Given the description of an element on the screen output the (x, y) to click on. 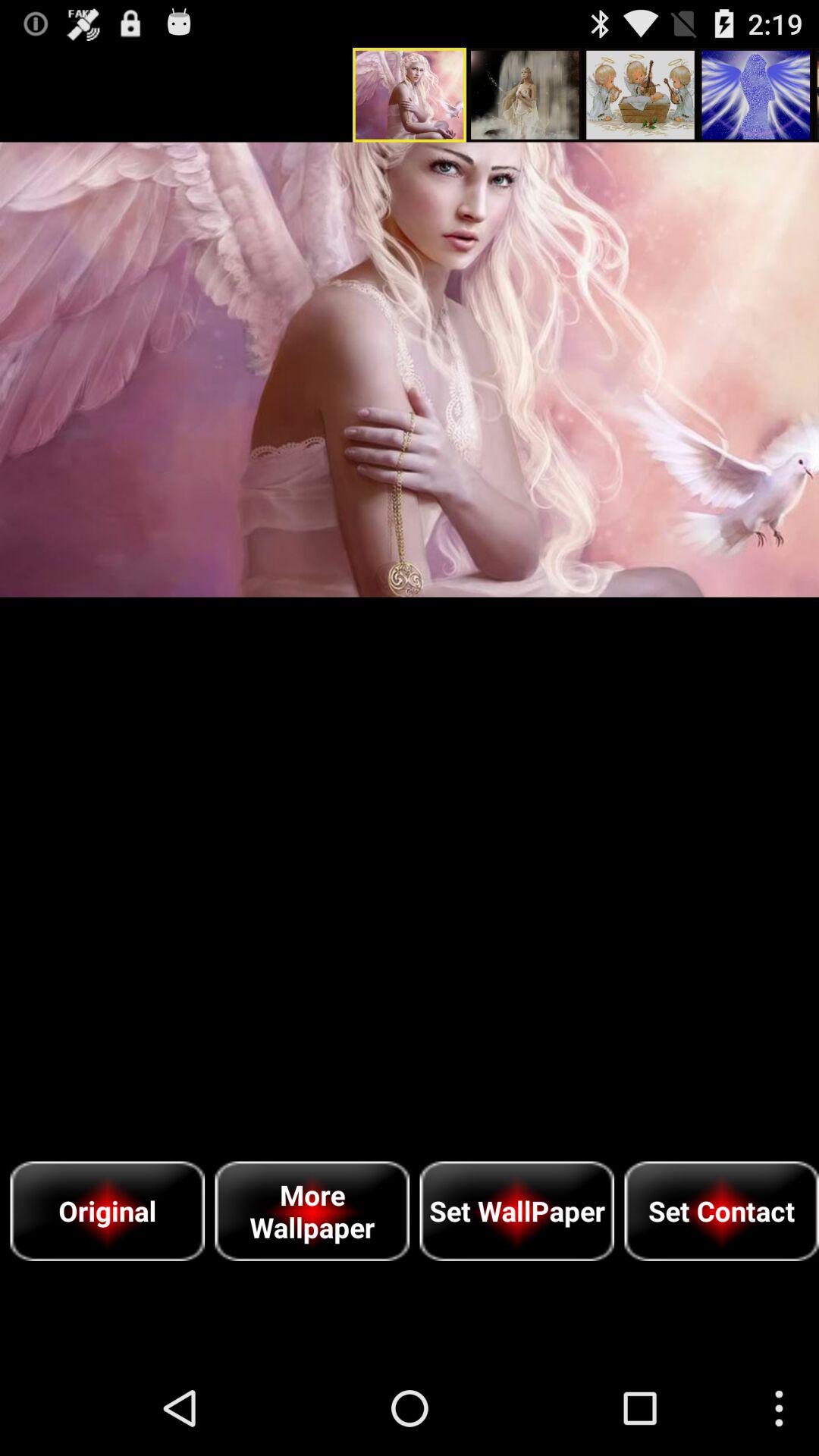
toggle a select option (409, 369)
